Given the description of an element on the screen output the (x, y) to click on. 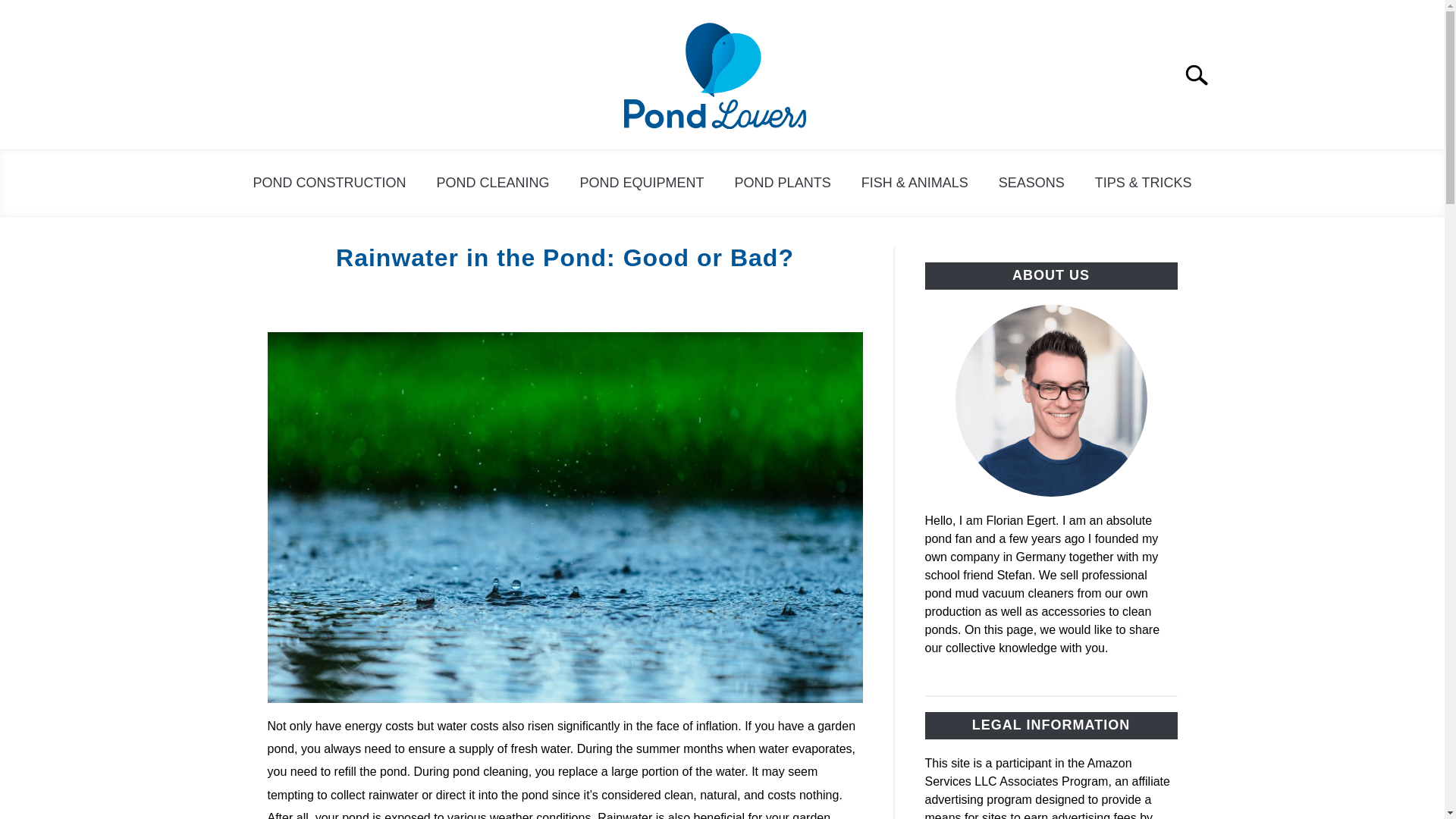
POND PLANTS (782, 182)
POND EQUIPMENT (641, 182)
POND CLEANING (493, 182)
POND CONSTRUCTION (330, 182)
SEASONS (1032, 182)
Search (1203, 74)
